Given the description of an element on the screen output the (x, y) to click on. 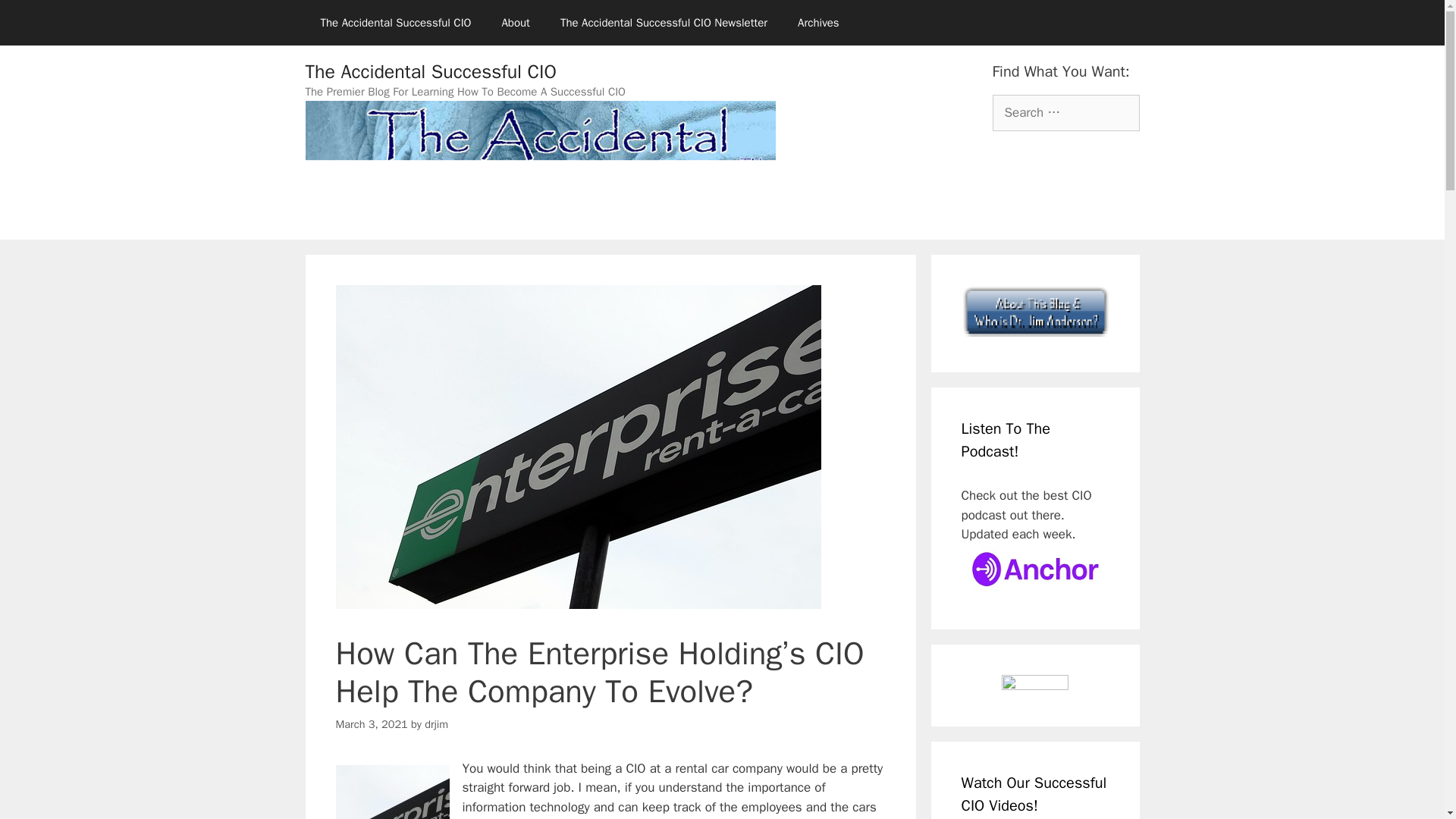
The Accidental Successful CIO Newsletter (663, 22)
Search (35, 18)
The Accidental Successful CIO (395, 22)
The Accidental Successful CIO (430, 71)
Archives (818, 22)
View all posts by drjim (436, 724)
drjim (436, 724)
About (515, 22)
Search for: (1064, 113)
